Given the description of an element on the screen output the (x, y) to click on. 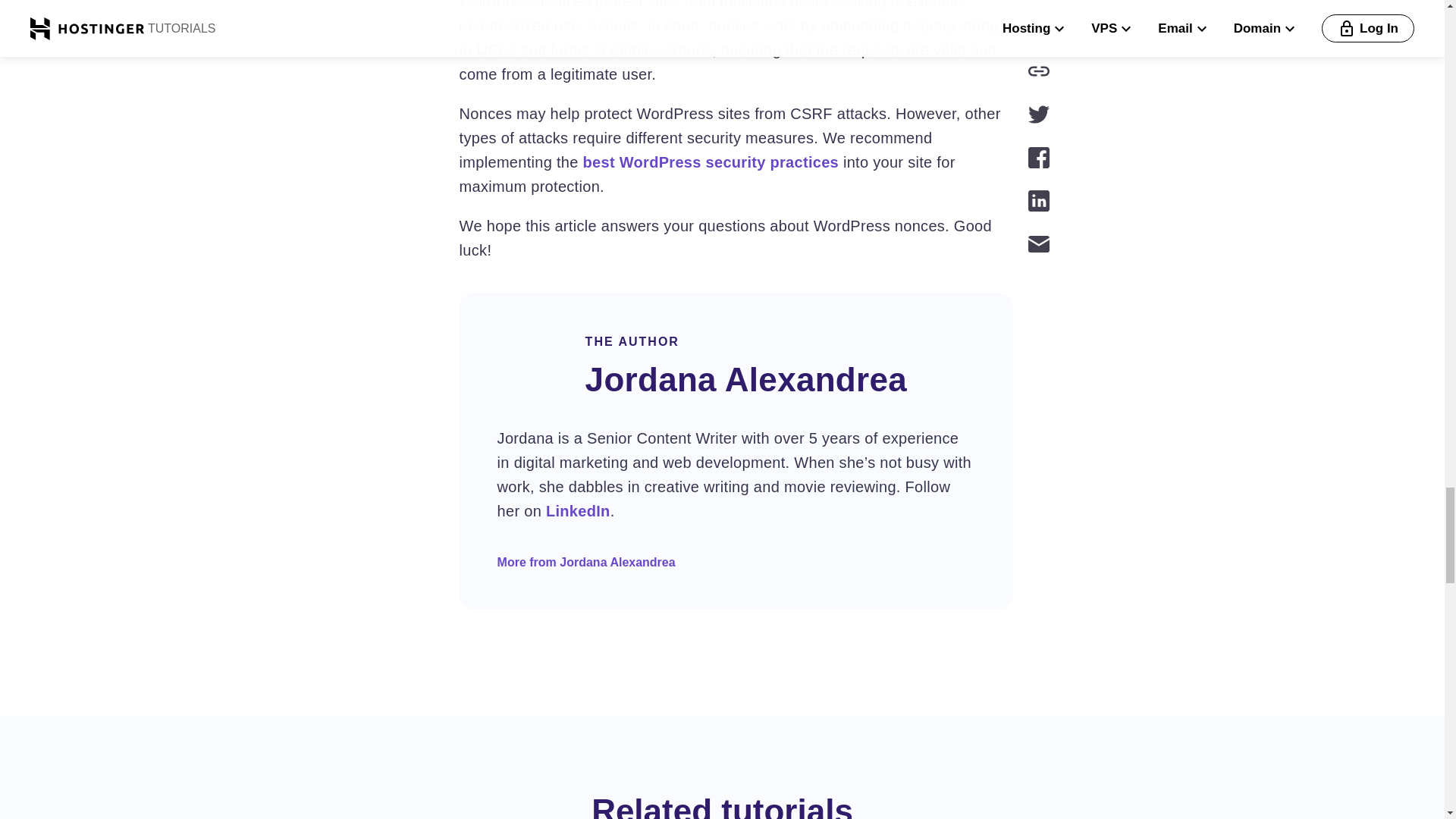
best WordPress security practices (710, 161)
LinkedIn (578, 510)
More from Jordana Alexandrea (586, 562)
